Given the description of an element on the screen output the (x, y) to click on. 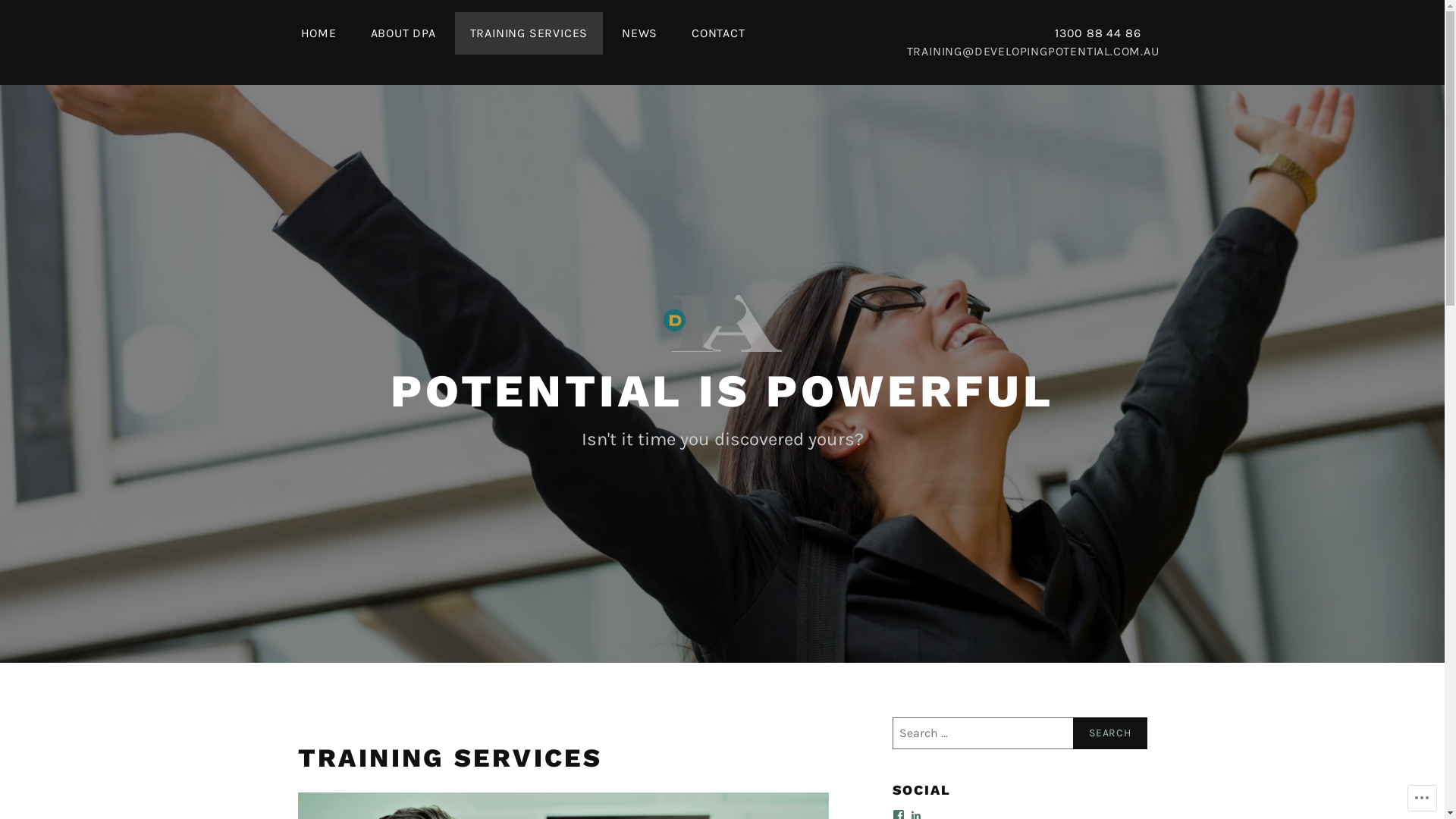
CONTACT Element type: text (718, 33)
TRAINING SERVICES Element type: text (529, 33)
POTENTIAL IS POWERFUL Element type: text (722, 390)
NEWS Element type: text (639, 33)
HOME Element type: text (318, 33)
Search Element type: text (1109, 733)
ABOUT DPA Element type: text (403, 33)
